Given the description of an element on the screen output the (x, y) to click on. 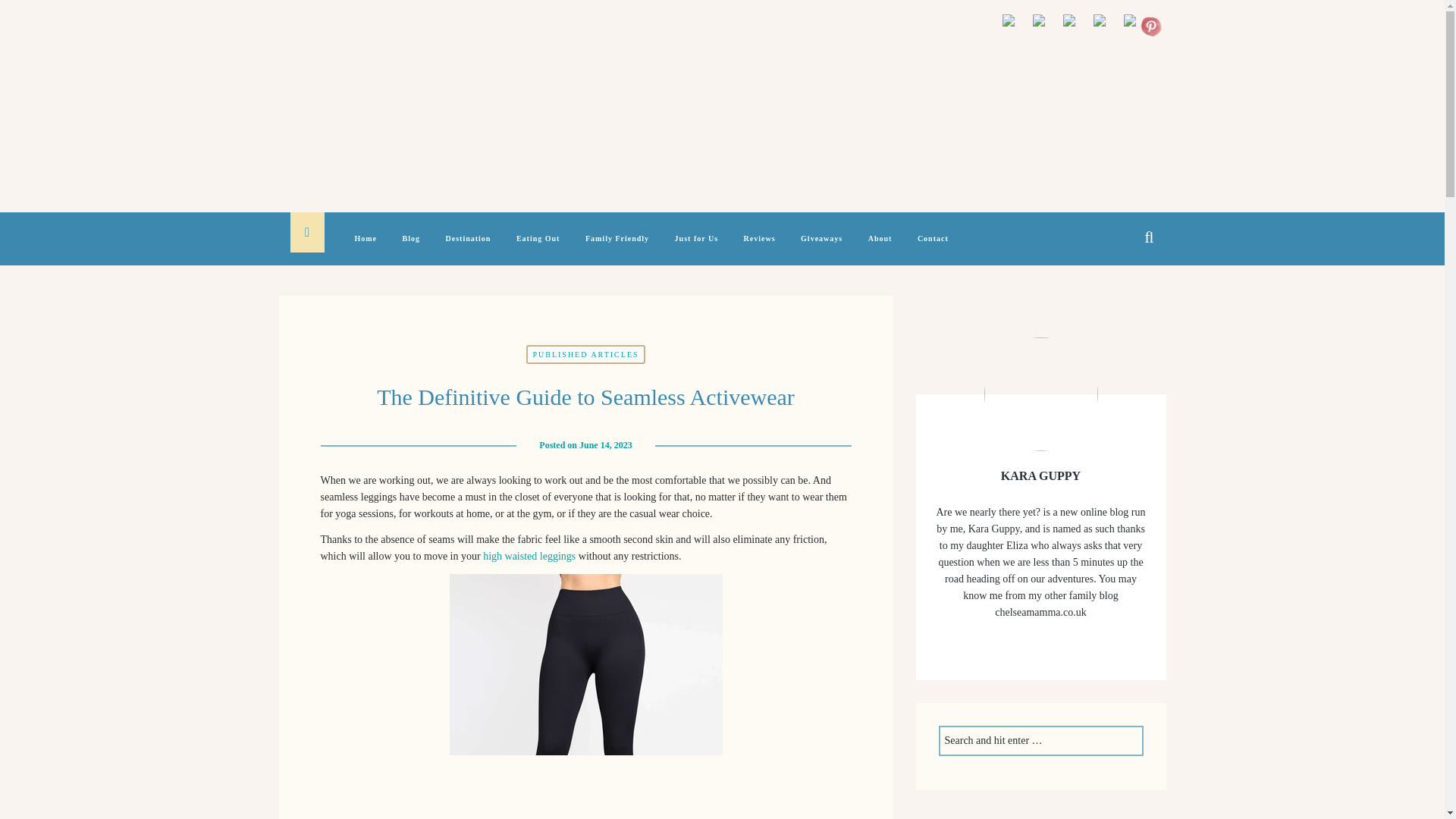
Home (366, 247)
Reviews (759, 247)
Destination (468, 247)
About (879, 247)
Just for Us (695, 247)
Giveaways (821, 247)
Eating Out (537, 247)
Blog (411, 247)
Family Friendly (617, 247)
